Given the description of an element on the screen output the (x, y) to click on. 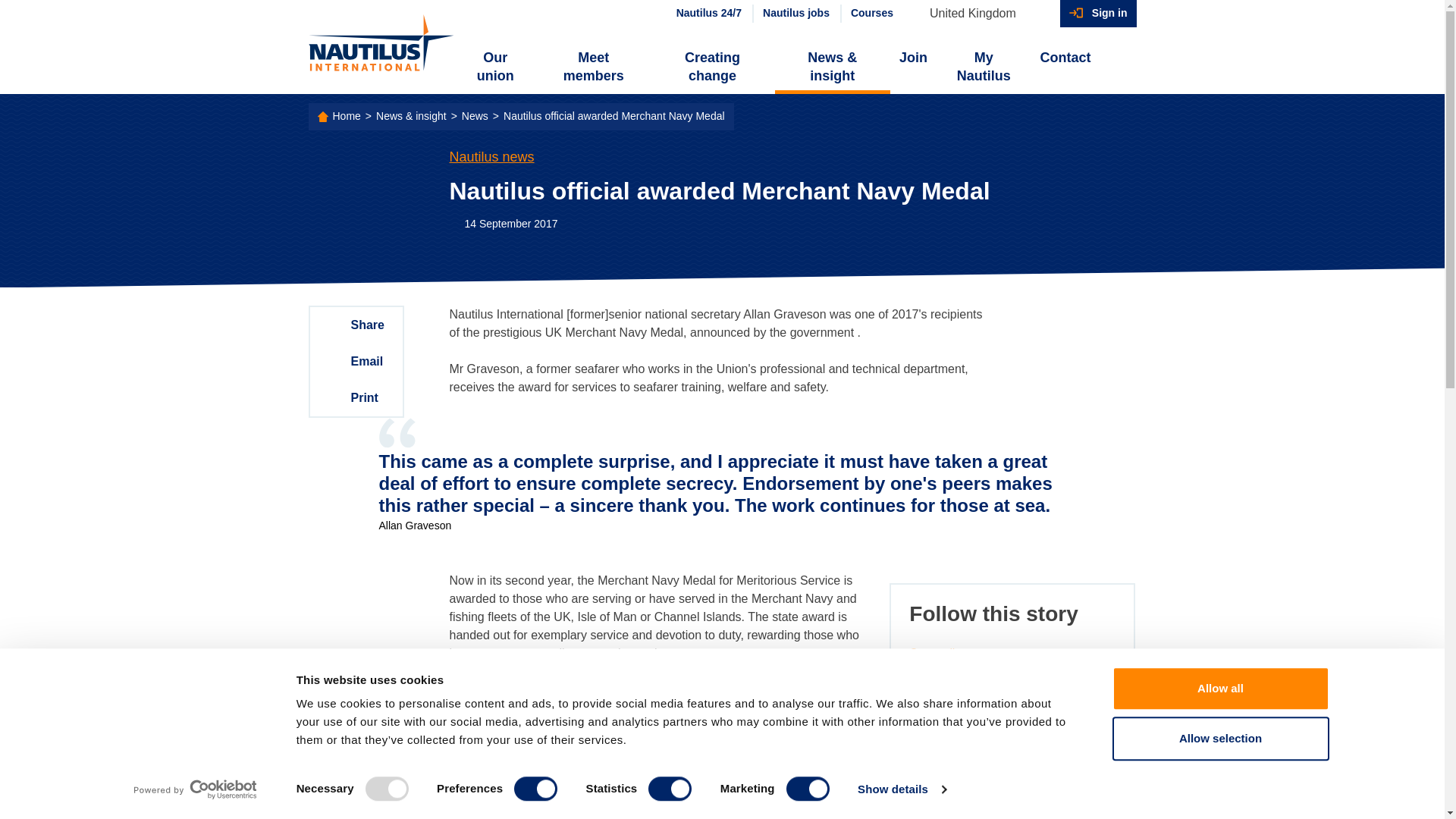
Show details (900, 789)
